Given the description of an element on the screen output the (x, y) to click on. 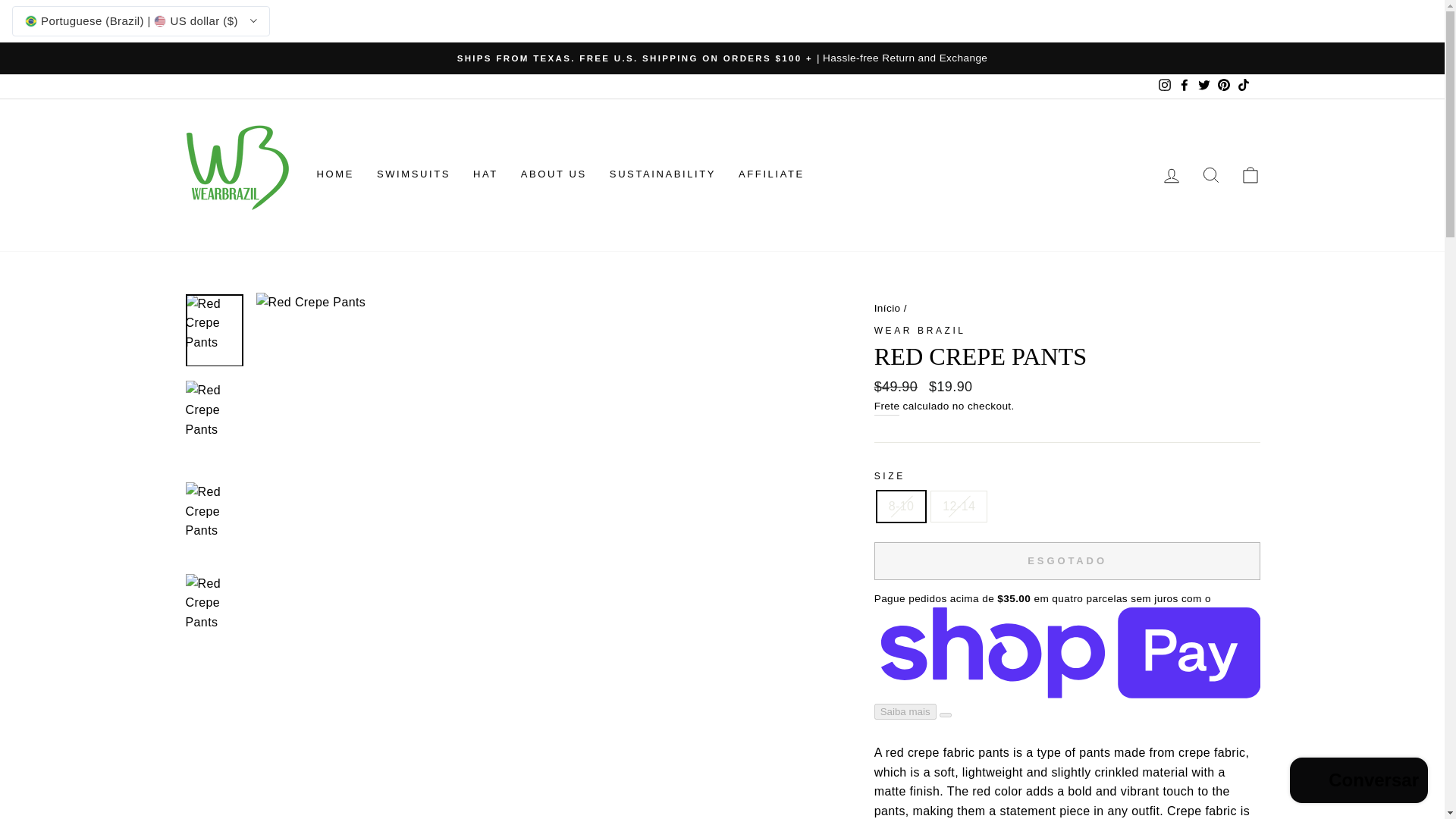
Wear Brazil  (920, 330)
Chat da loja virtual da Shopify (1358, 781)
